Given the description of an element on the screen output the (x, y) to click on. 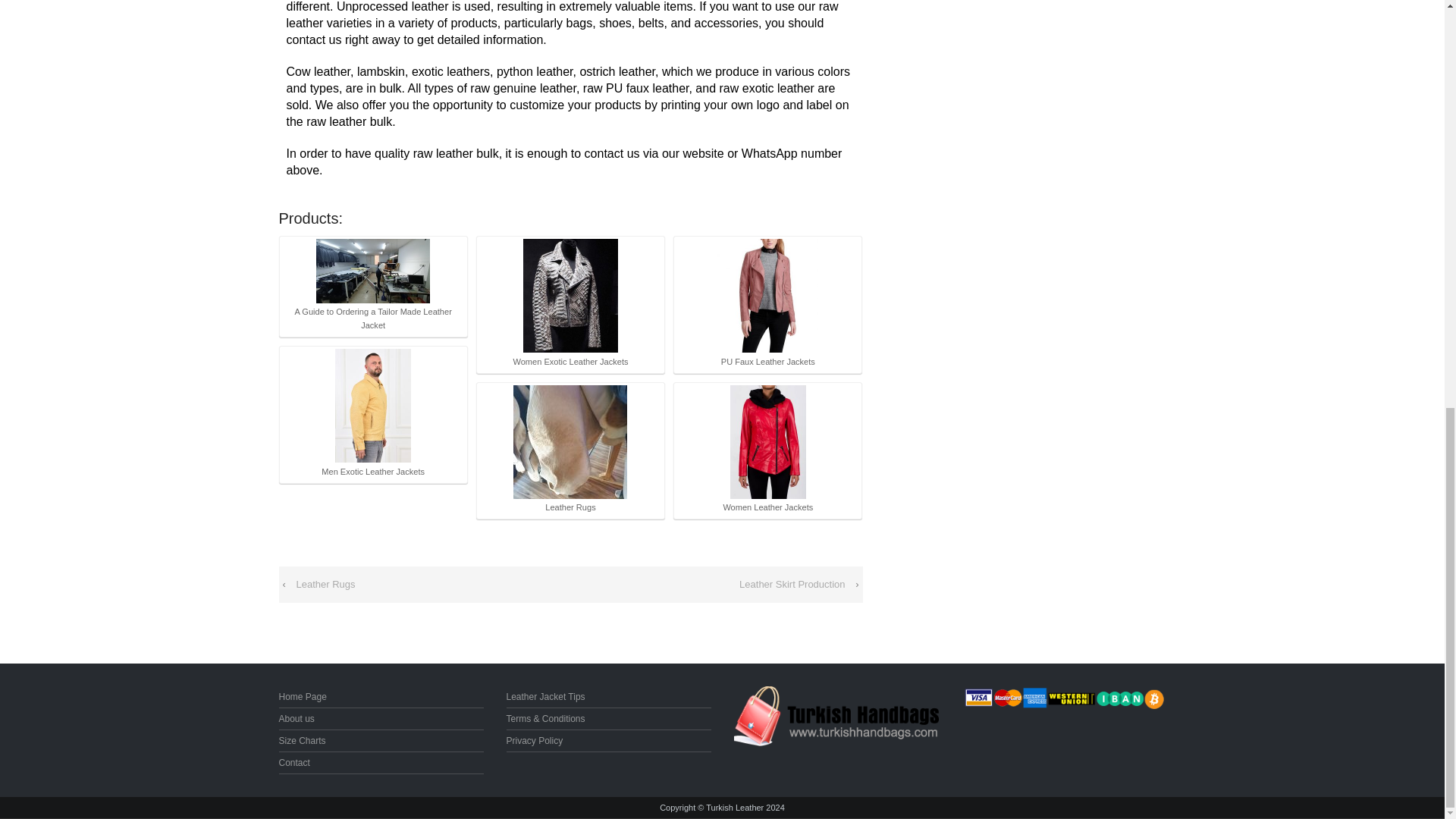
Leather Jacket Tips (545, 696)
Women Leather Jackets (768, 449)
Men Exotic Leather Jackets (373, 413)
Leather Rugs (325, 583)
A Guide to Ordering a Tailor Made Leather Jacket (373, 285)
Size Charts (302, 740)
Privacy Policy (534, 740)
Leather Rugs (570, 441)
A Guide to Ordering a Tailor Made Leather Jacket (372, 271)
Leather Skirt Production (791, 583)
Leather Rugs (570, 449)
Contact (294, 762)
PU Faux Leather Jackets (768, 303)
Women Exotic Leather Jackets (570, 303)
About us (296, 718)
